Given the description of an element on the screen output the (x, y) to click on. 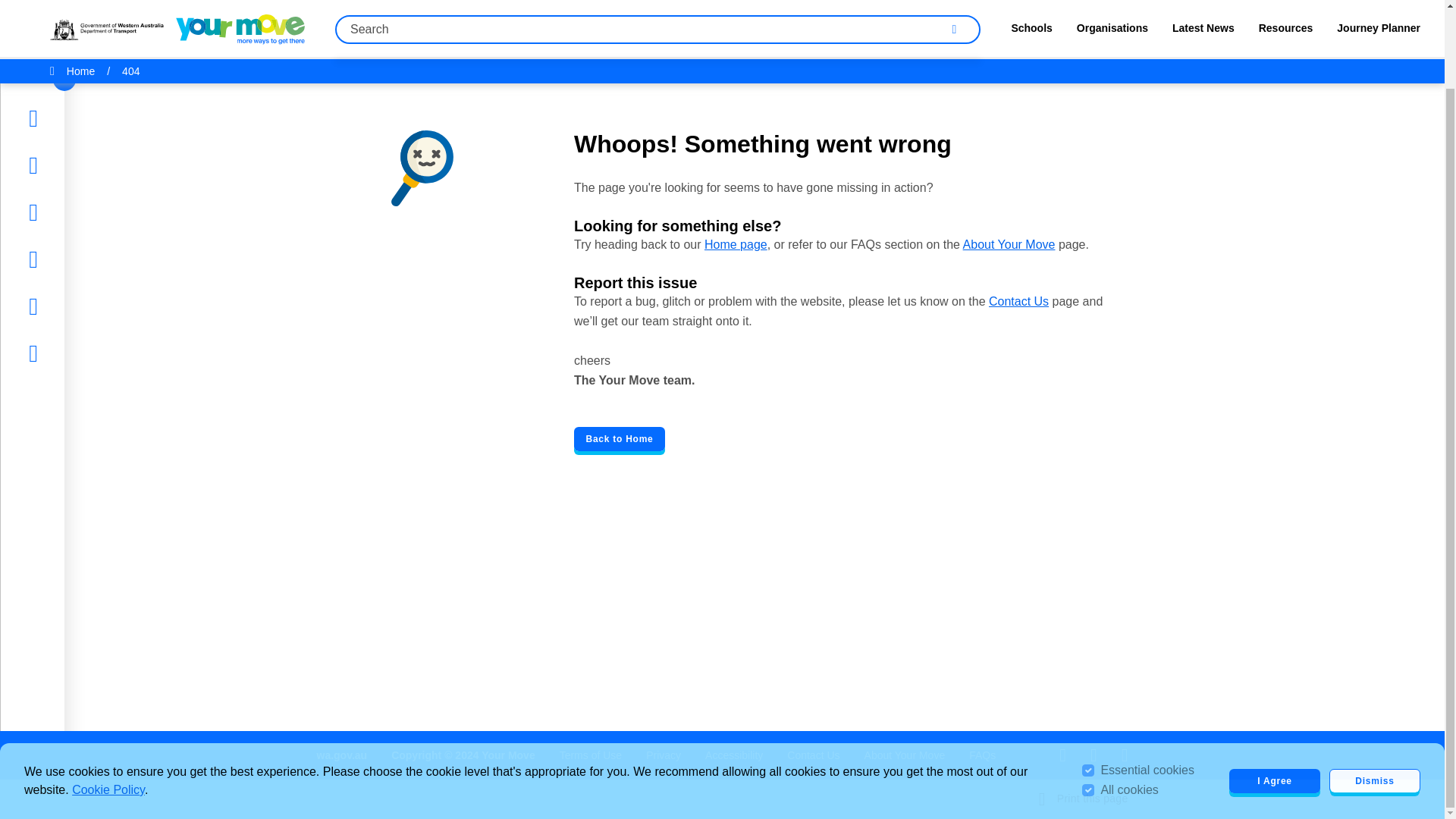
Latest News (77, 124)
Accessibility (733, 755)
Print this page (1083, 799)
Journey Planner (87, 218)
About Your Move (1008, 244)
Terms of Use (590, 755)
toggle side navigation (63, 1)
Home page (735, 244)
Contact Us (813, 755)
wa.gov.au (342, 755)
